Given the description of an element on the screen output the (x, y) to click on. 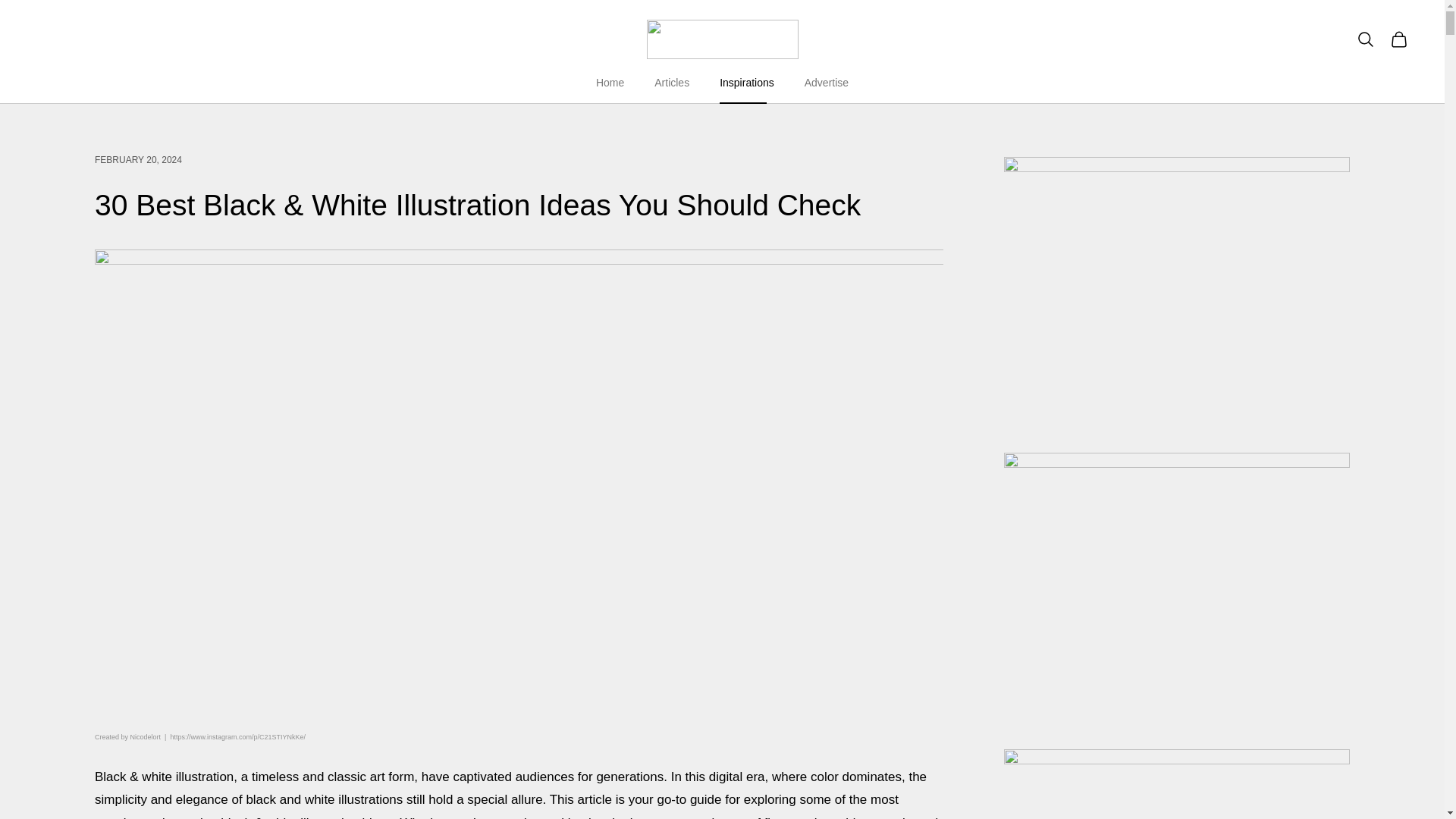
Kreafolk (721, 38)
Open search (1365, 39)
Advertise (826, 83)
Home (609, 83)
Open cart (1398, 39)
Articles (670, 83)
Inspirations (746, 83)
